Given the description of an element on the screen output the (x, y) to click on. 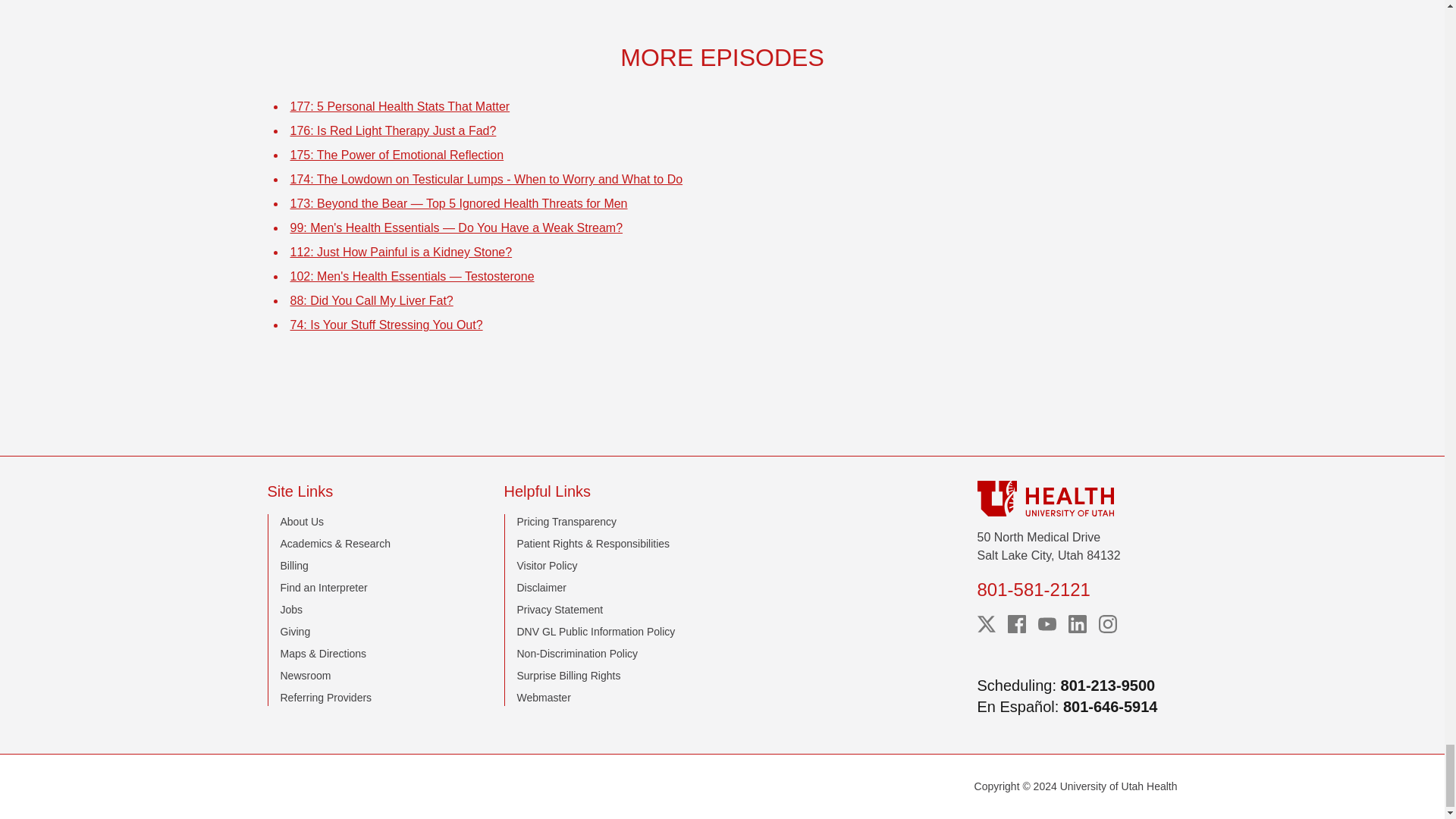
University of Utah Healthcare (1076, 498)
